Given the description of an element on the screen output the (x, y) to click on. 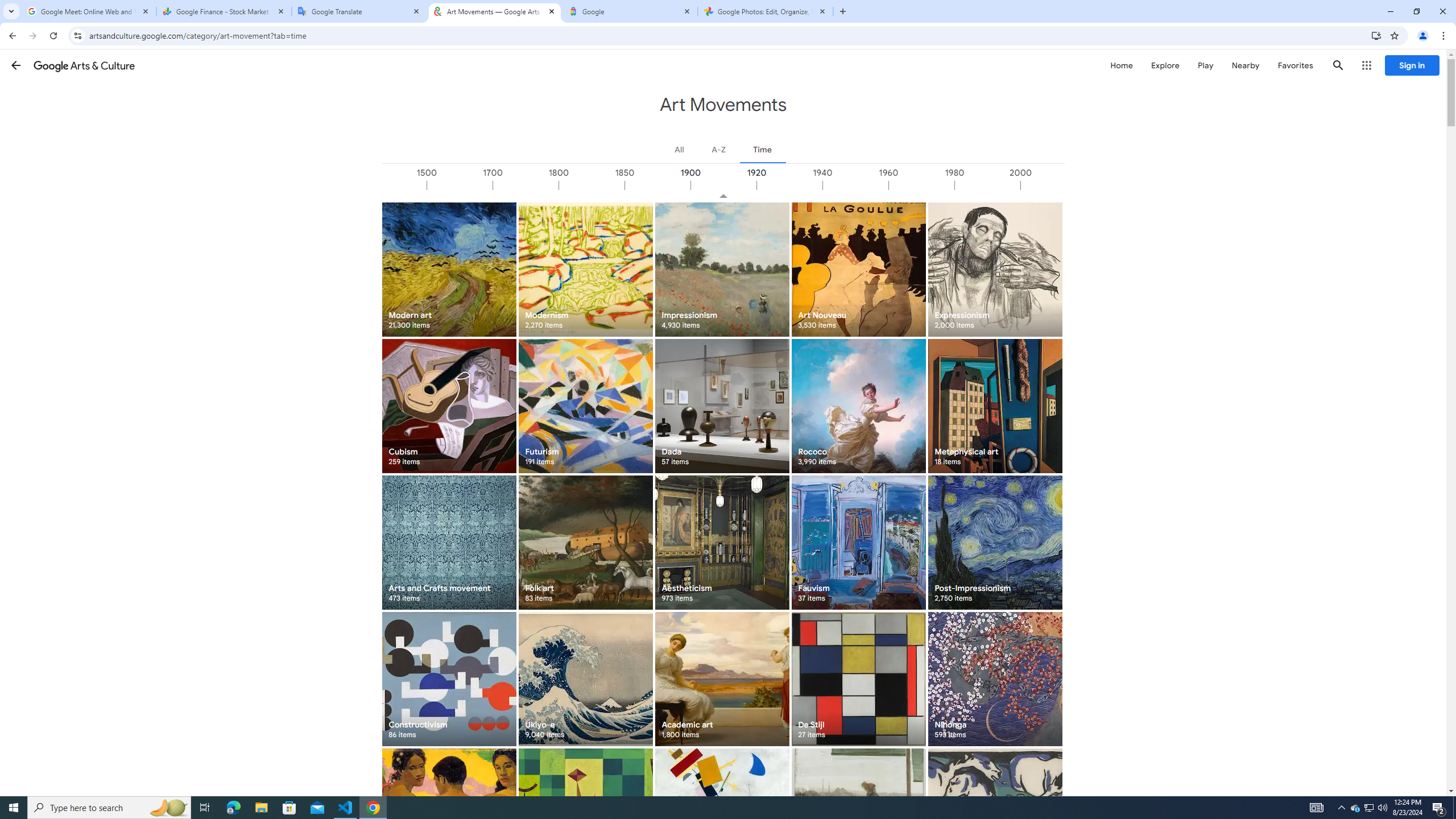
Nihonga 593 items (994, 678)
Favorites (1295, 65)
Rococo 3,990 items (858, 406)
Dada 57 items (722, 406)
Explore (1164, 65)
A-Z (718, 148)
Modernism 2,270 items (585, 269)
Fauvism 37 items (858, 542)
Google Arts & Culture (84, 65)
Install Google Arts & Culture (1376, 35)
